Given the description of an element on the screen output the (x, y) to click on. 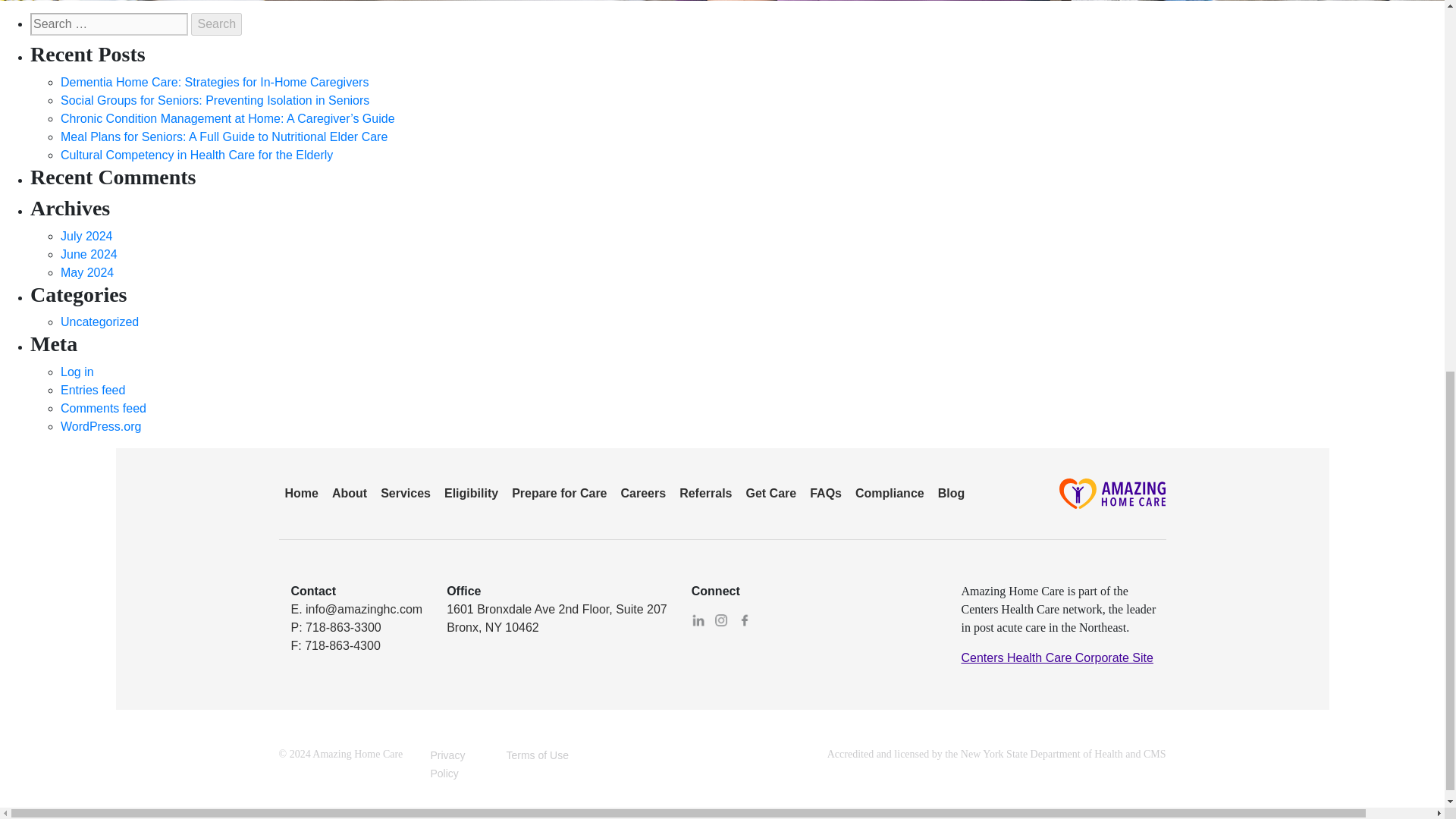
Search (215, 24)
Search (215, 24)
